Given the description of an element on the screen output the (x, y) to click on. 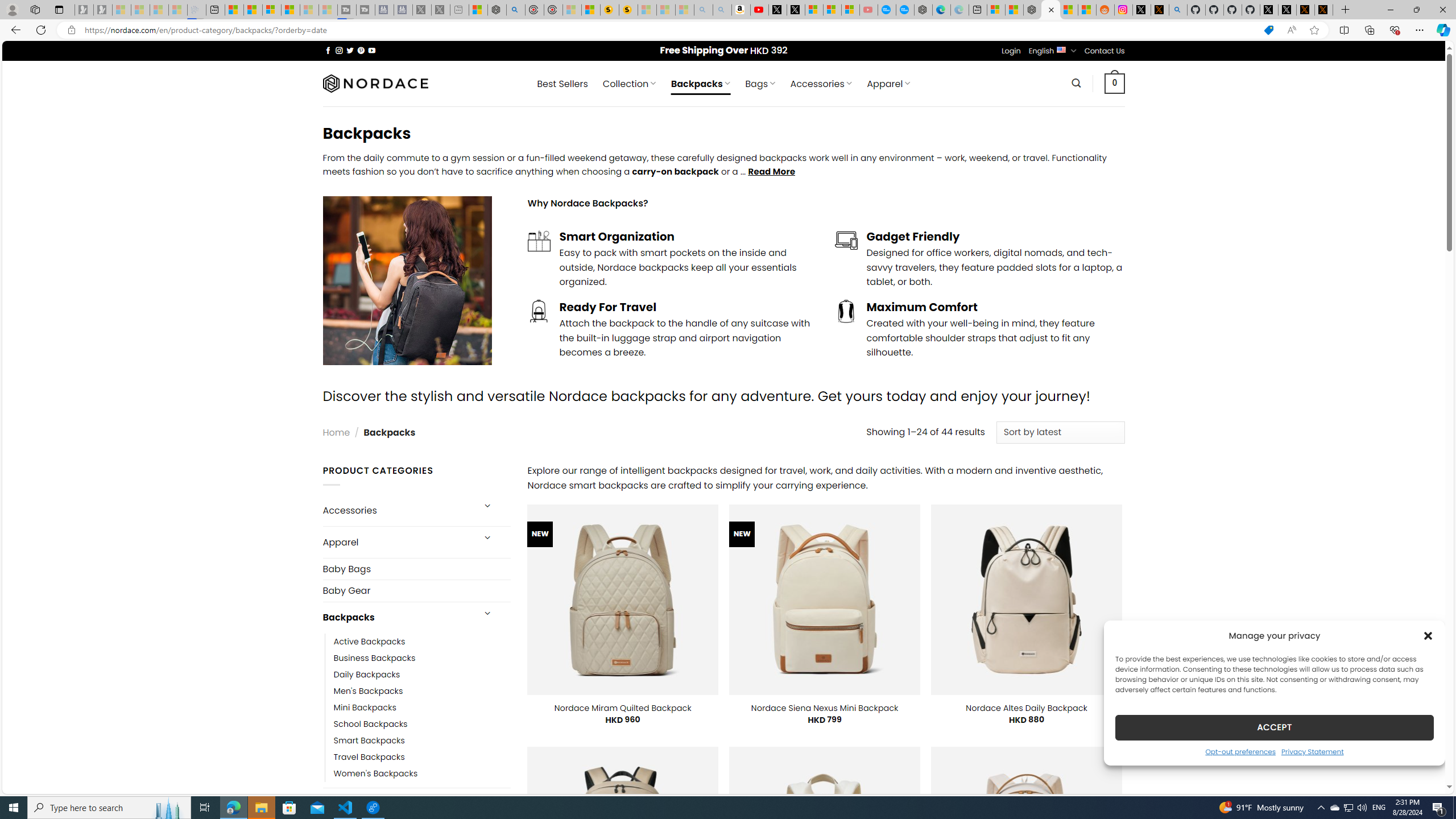
Active Backpacks (422, 641)
Apparel (397, 542)
Accessories (397, 510)
Follow on Pinterest (360, 49)
Women's Backpacks (375, 773)
The most popular Google 'how to' searches (904, 9)
Follow on Facebook (327, 49)
Login (1010, 50)
School Backpacks (370, 723)
  Best Sellers (562, 83)
Shanghai, China Weather trends | Microsoft Weather (1086, 9)
